Given the description of an element on the screen output the (x, y) to click on. 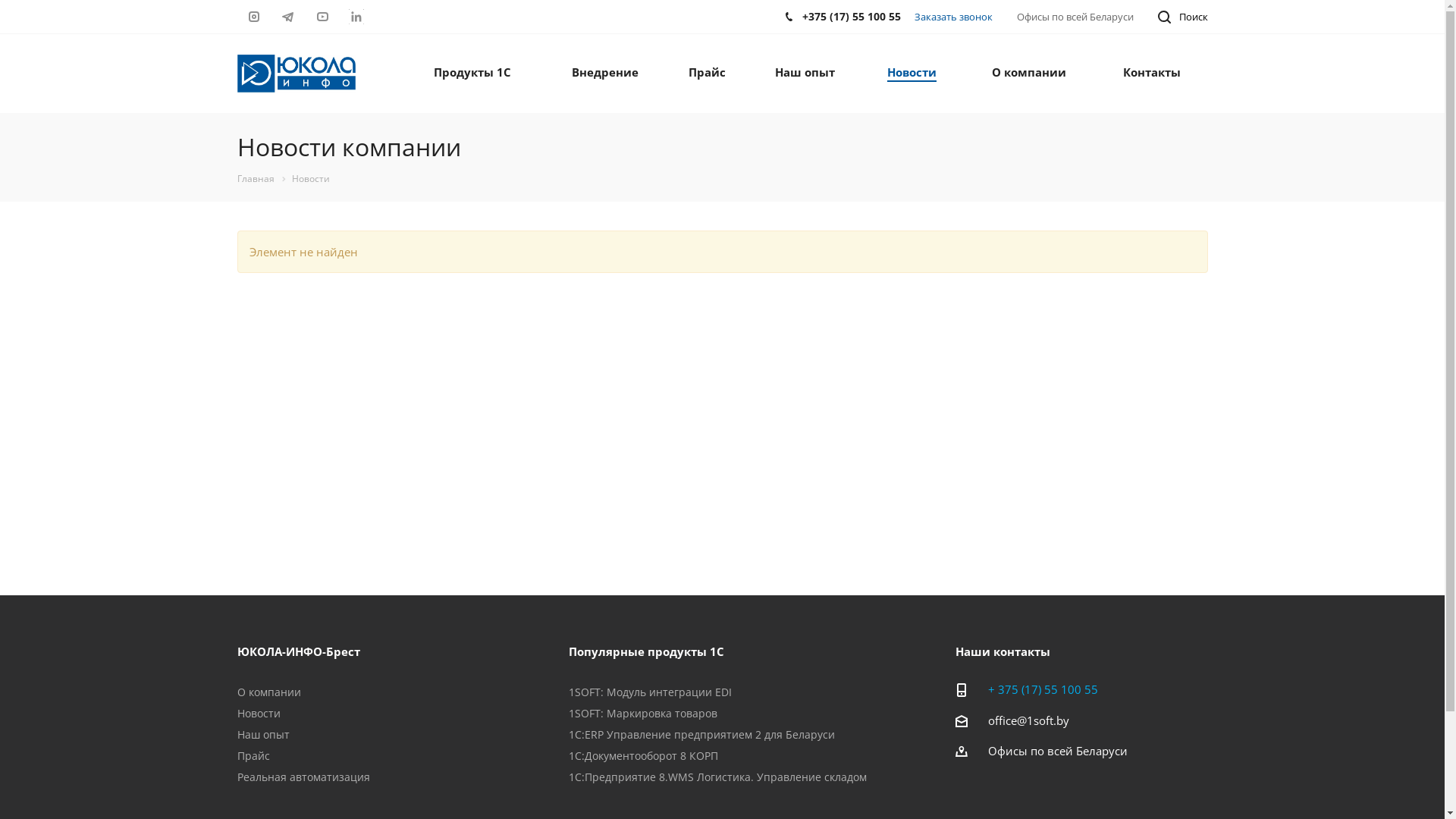
office@1soft.by Element type: text (1028, 720)
+ 375 (17) 55 100 55 Element type: text (1043, 688)
